Given the description of an element on the screen output the (x, y) to click on. 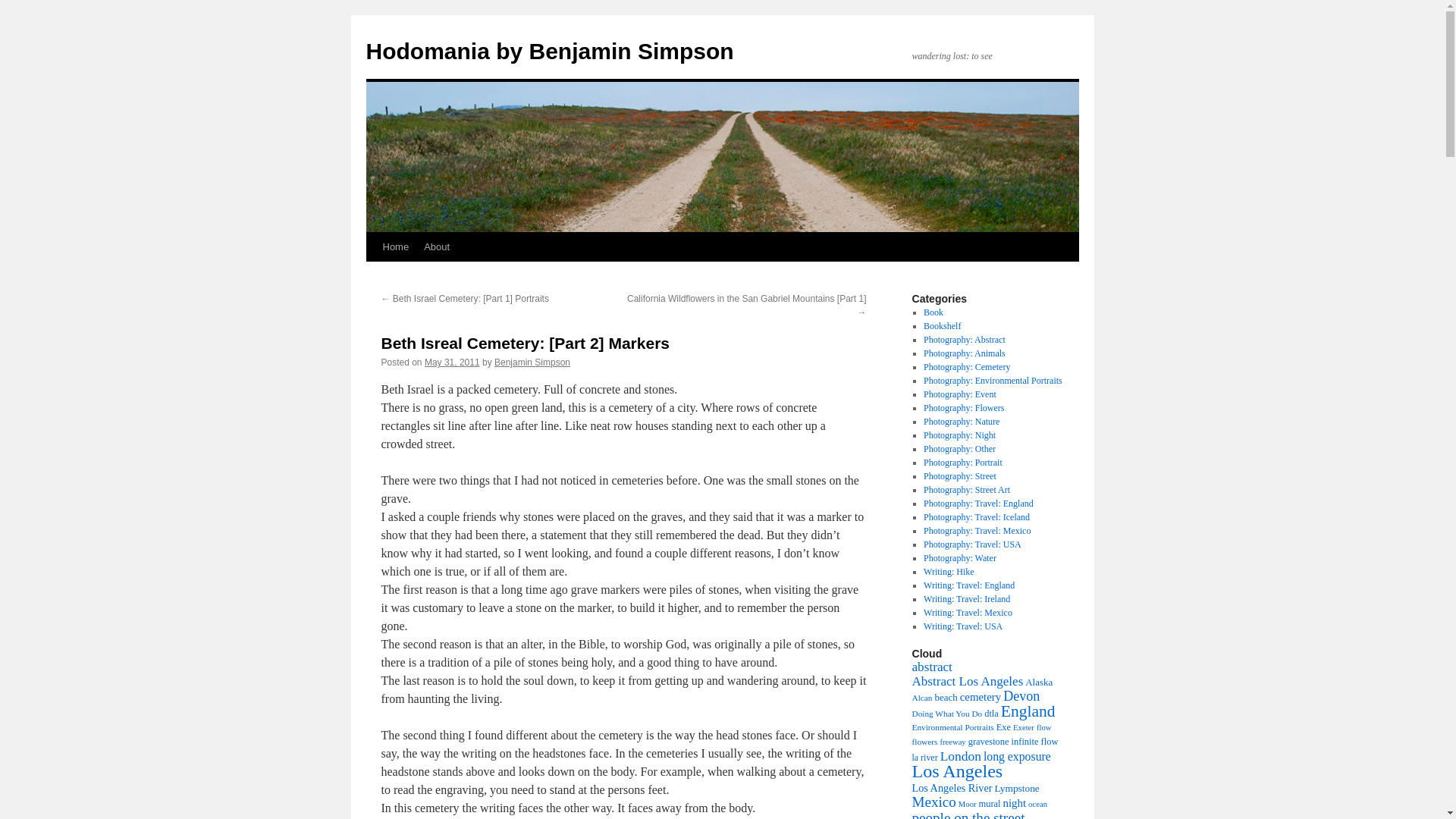
Photography: Nature (960, 421)
Writing: Travel: Ireland (966, 598)
Writing: Travel: Mexico (967, 612)
Photography: Night (959, 434)
Photography: Travel: USA (972, 543)
Photography: Environmental Portraits (992, 380)
10:10 am (452, 362)
Photography: Animals (964, 353)
Photography: Travel: Iceland (976, 516)
Bookshelf (941, 326)
